Given the description of an element on the screen output the (x, y) to click on. 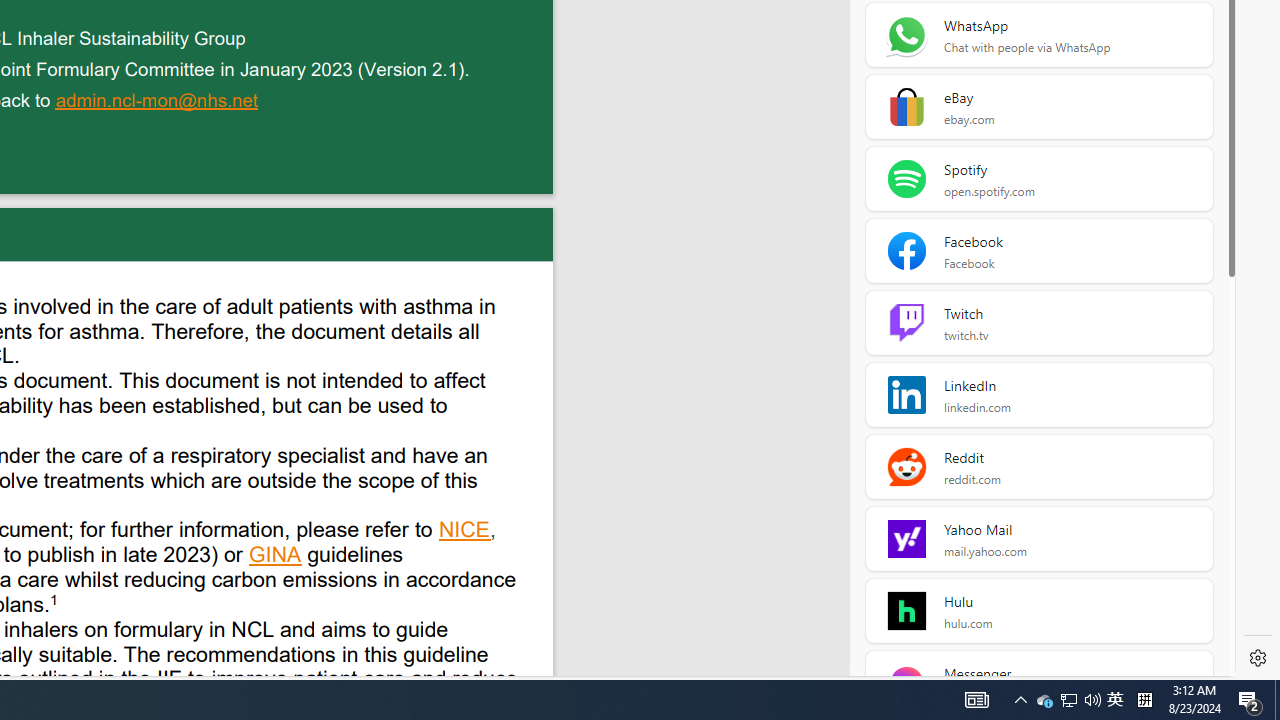
NICE (465, 532)
GINA  (276, 557)
admin.ncl-mon@nhs.net (157, 102)
